Given the description of an element on the screen output the (x, y) to click on. 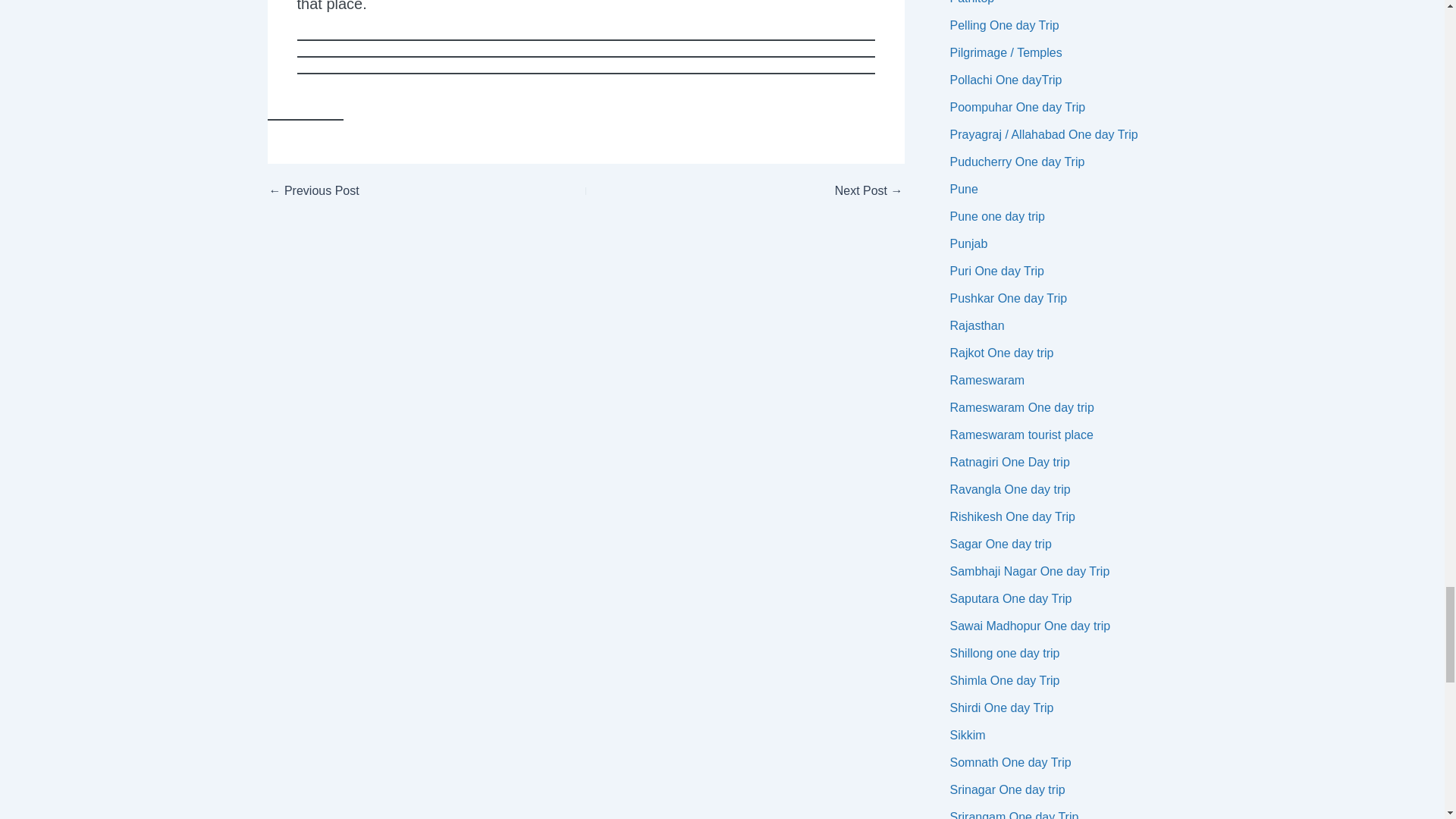
Guwahati to Shillong one day Tour - Visit Famous Place (394, 191)
One day Jaipur Local sightseeing By Private Cab. (774, 191)
